Given the description of an element on the screen output the (x, y) to click on. 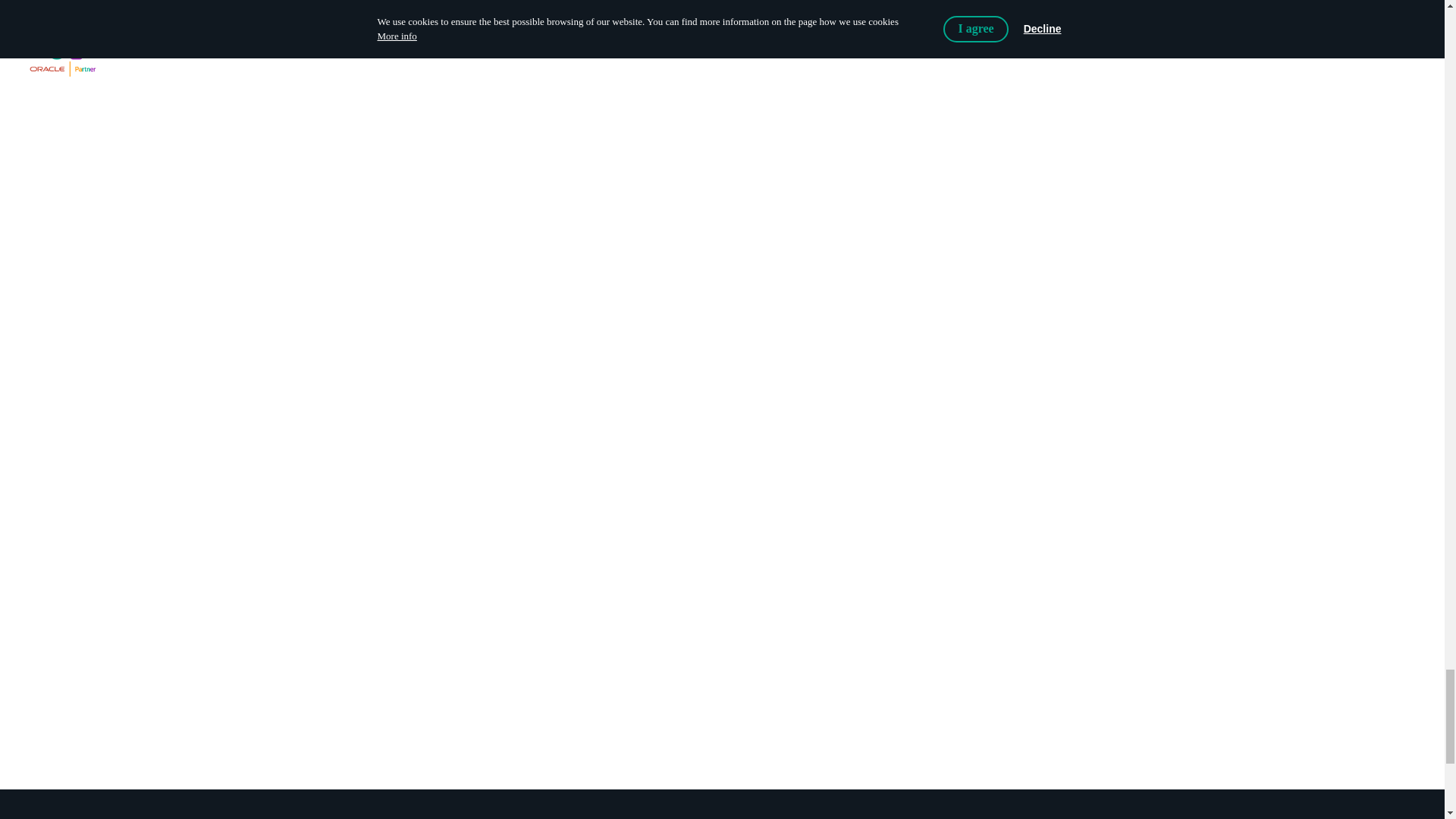
Send (721, 613)
